Given the description of an element on the screen output the (x, y) to click on. 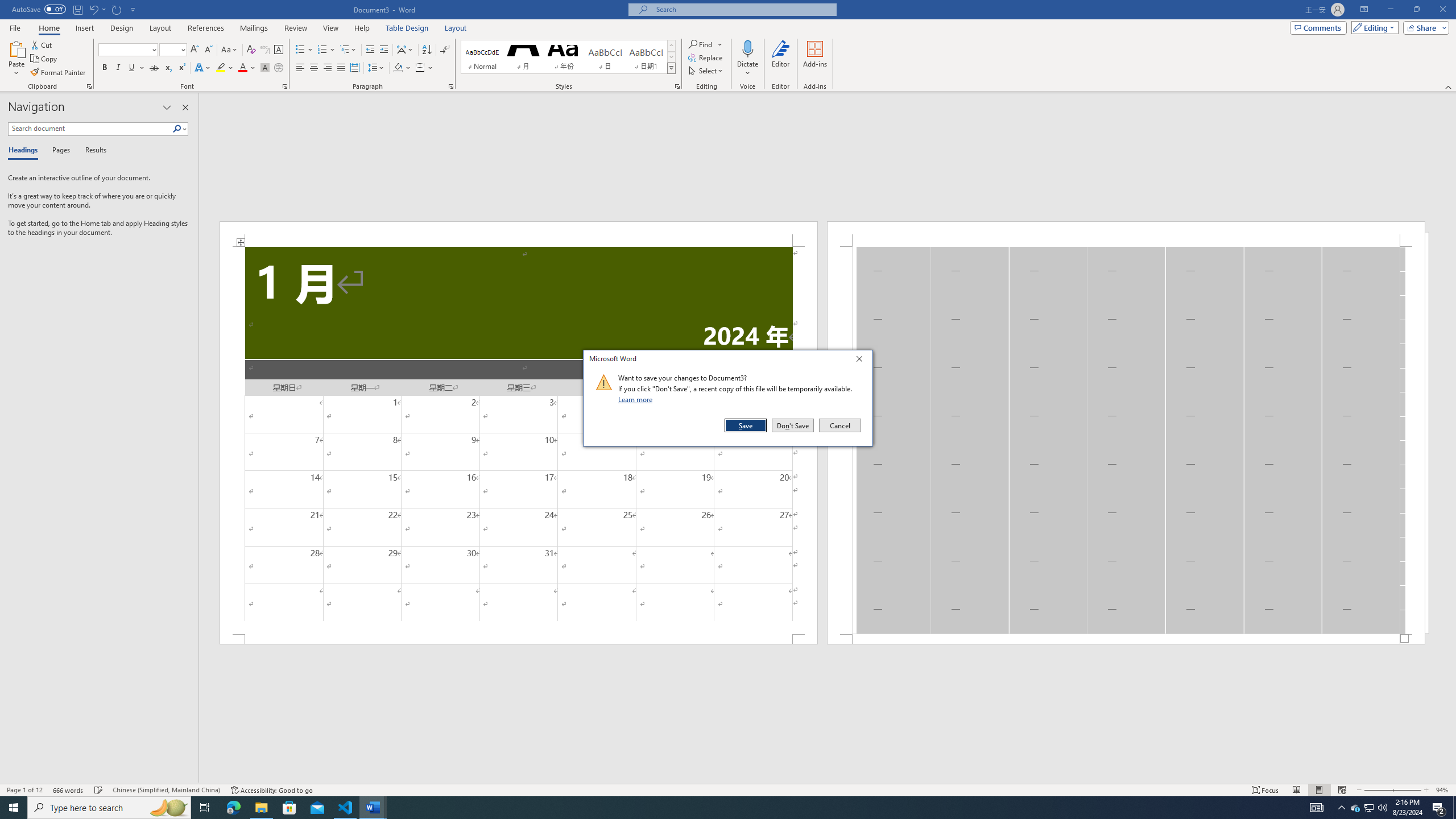
Microsoft Edge (233, 807)
